Given the description of an element on the screen output the (x, y) to click on. 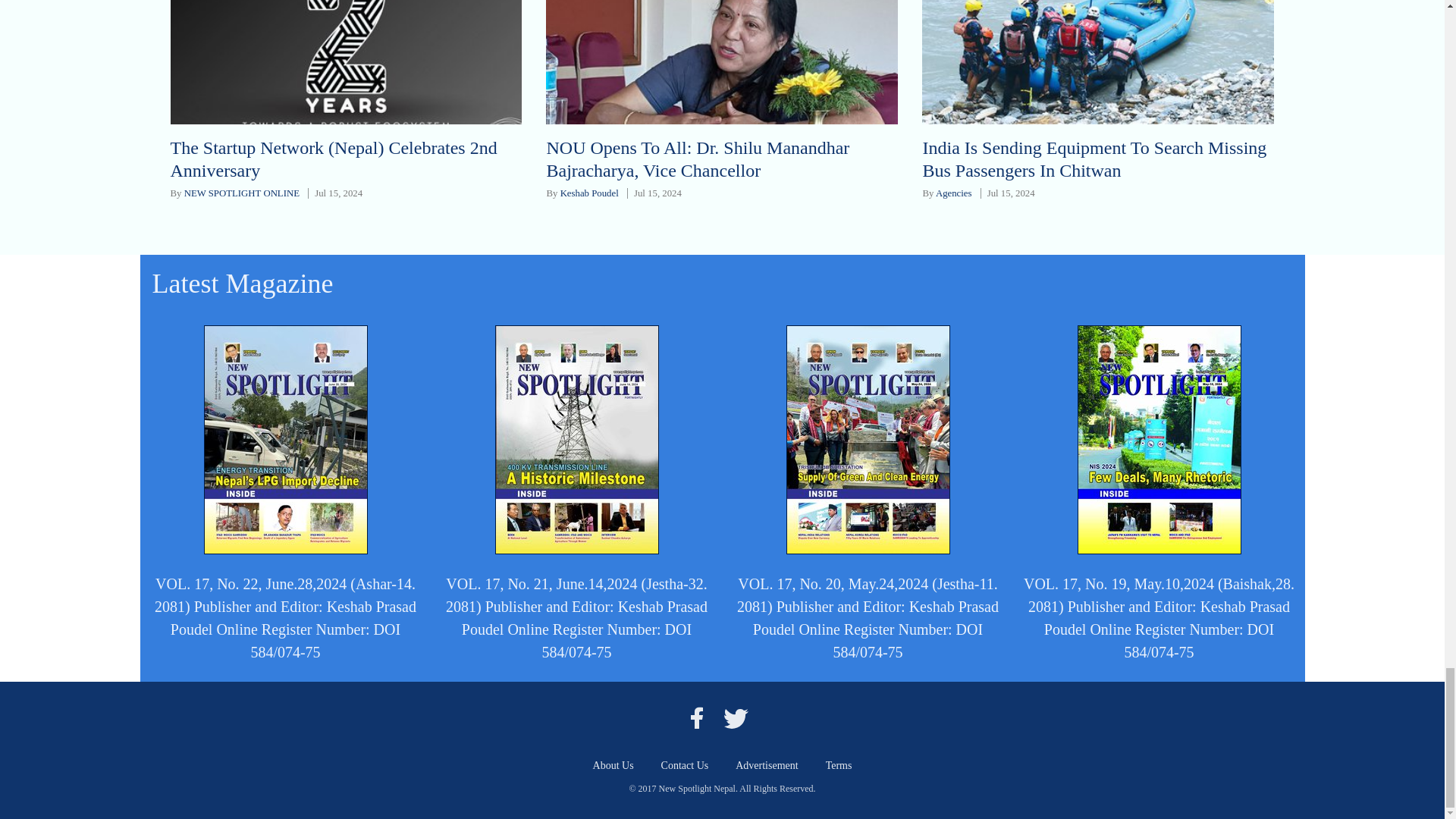
twitter icon (735, 717)
facebook icon (695, 717)
Spotlight Nepal Twitter (735, 717)
Spotlight Nepal Facebook (695, 717)
